Given the description of an element on the screen output the (x, y) to click on. 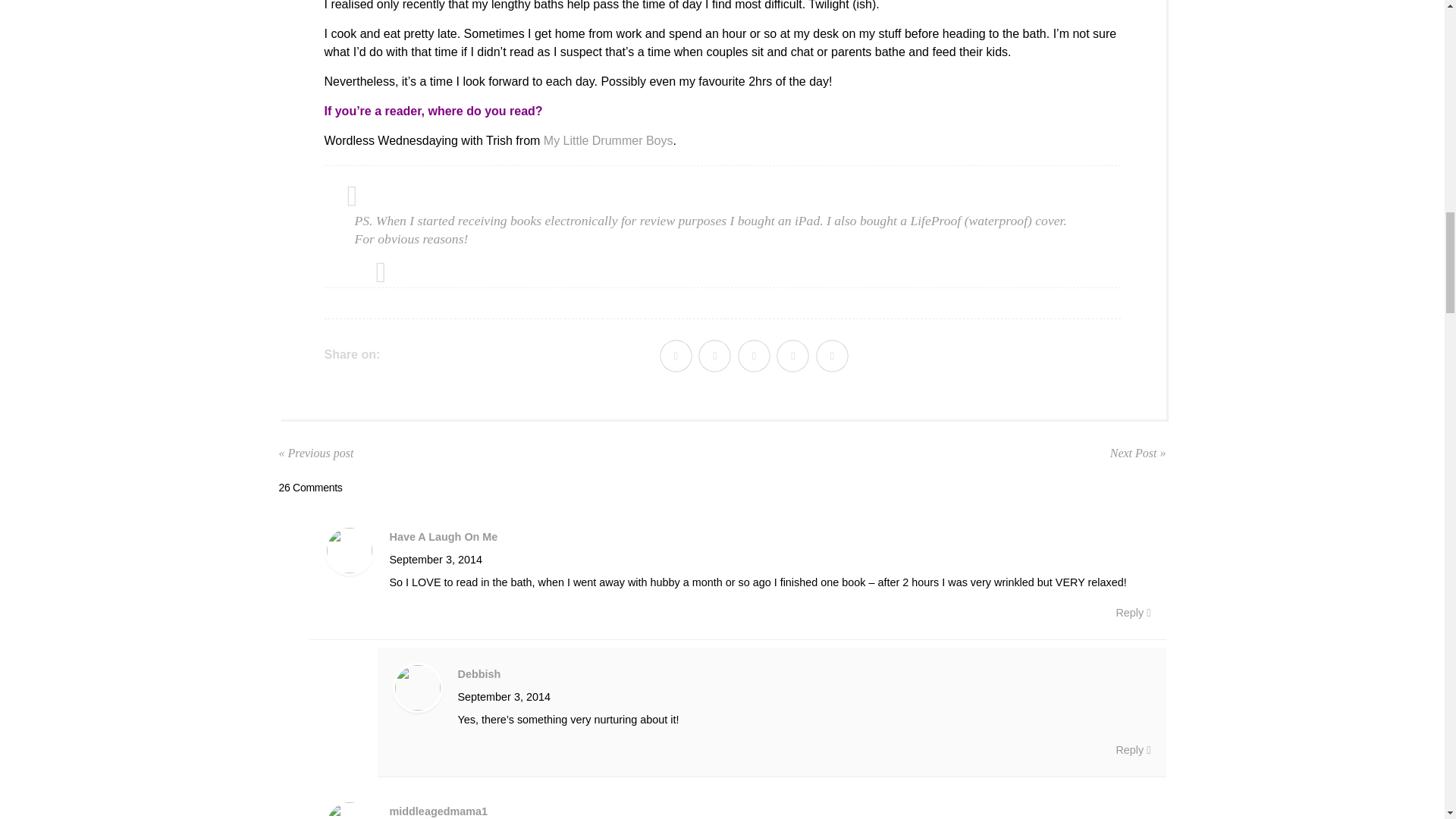
Debbish (479, 674)
middleagedmama1 (438, 811)
Have A Laugh On Me (443, 536)
My Little Drummer Boys (607, 140)
Reply (1132, 612)
Reply (1132, 749)
